Given the description of an element on the screen output the (x, y) to click on. 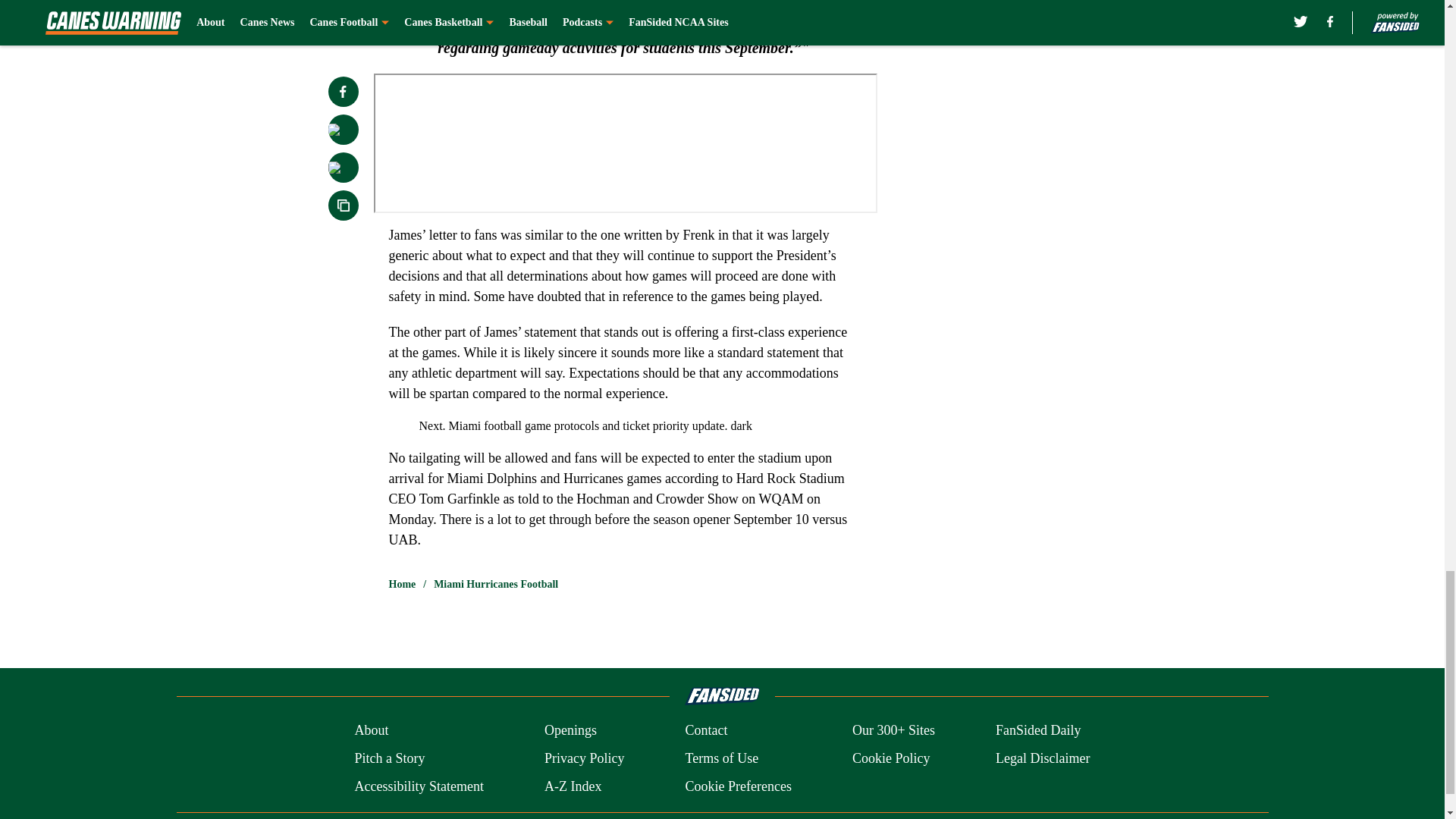
Contact (705, 730)
Home (401, 584)
Privacy Policy (584, 758)
FanSided Daily (1038, 730)
About (370, 730)
Pitch a Story (389, 758)
Openings (570, 730)
Miami Hurricanes Football (495, 584)
